Given the description of an element on the screen output the (x, y) to click on. 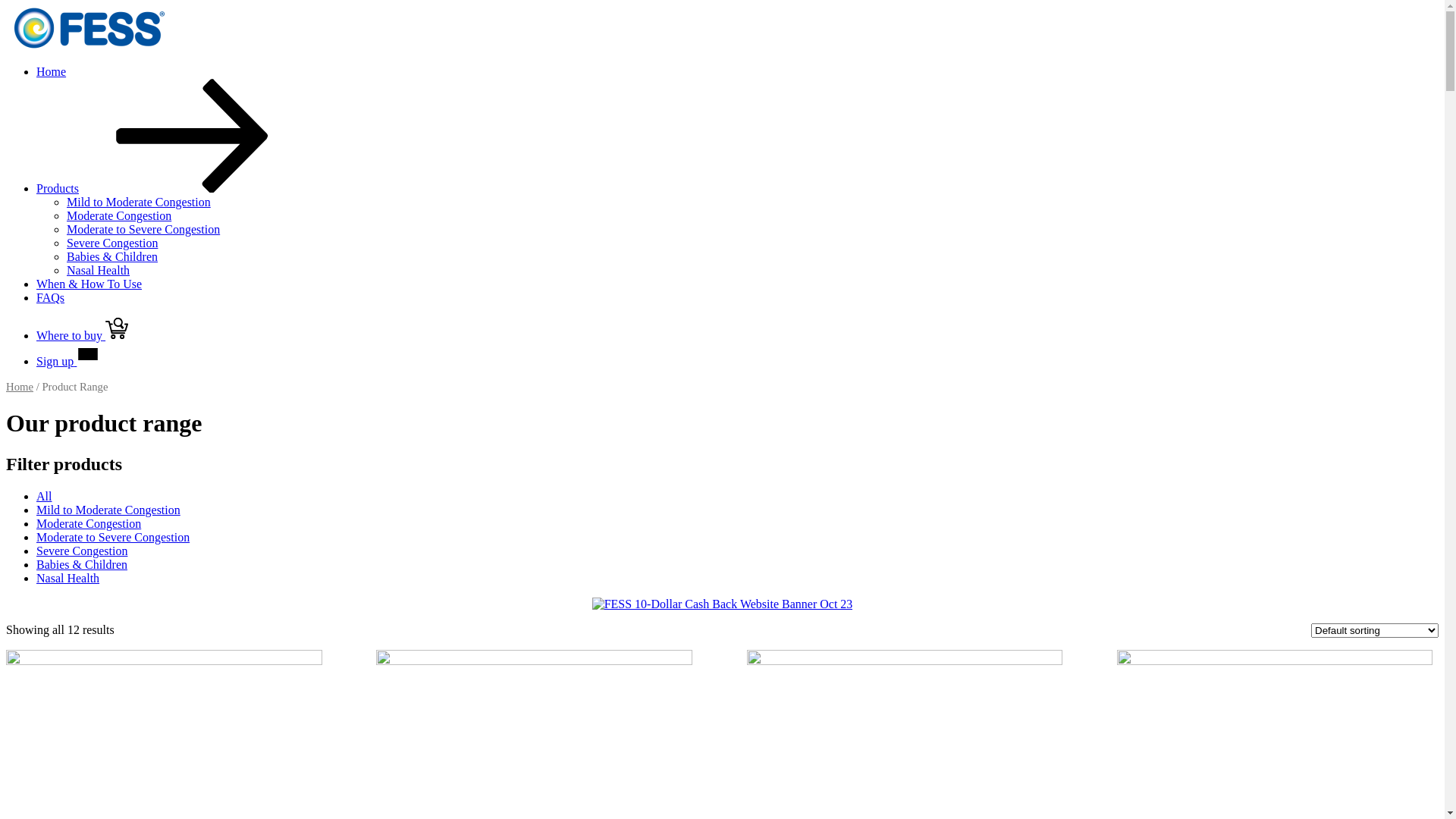
All Element type: text (43, 495)
Nasal Health Element type: text (67, 577)
Moderate Congestion Element type: text (118, 215)
Mild to Moderate Congestion Element type: text (138, 201)
Severe Congestion Element type: text (111, 242)
Products Element type: text (171, 188)
Moderate to Severe Congestion Element type: text (112, 536)
When & How To Use Element type: text (88, 283)
Sign up Element type: text (67, 360)
Home Element type: text (19, 386)
FAQs Element type: text (50, 297)
Babies & Children Element type: text (81, 564)
Nasal Health Element type: text (97, 269)
Moderate to Severe Congestion Element type: text (142, 228)
Home Element type: text (50, 71)
Mild to Moderate Congestion Element type: text (108, 509)
Severe Congestion Element type: text (81, 550)
Babies & Children Element type: text (111, 256)
Where to buy Element type: text (82, 335)
Moderate Congestion Element type: text (88, 523)
